Given the description of an element on the screen output the (x, y) to click on. 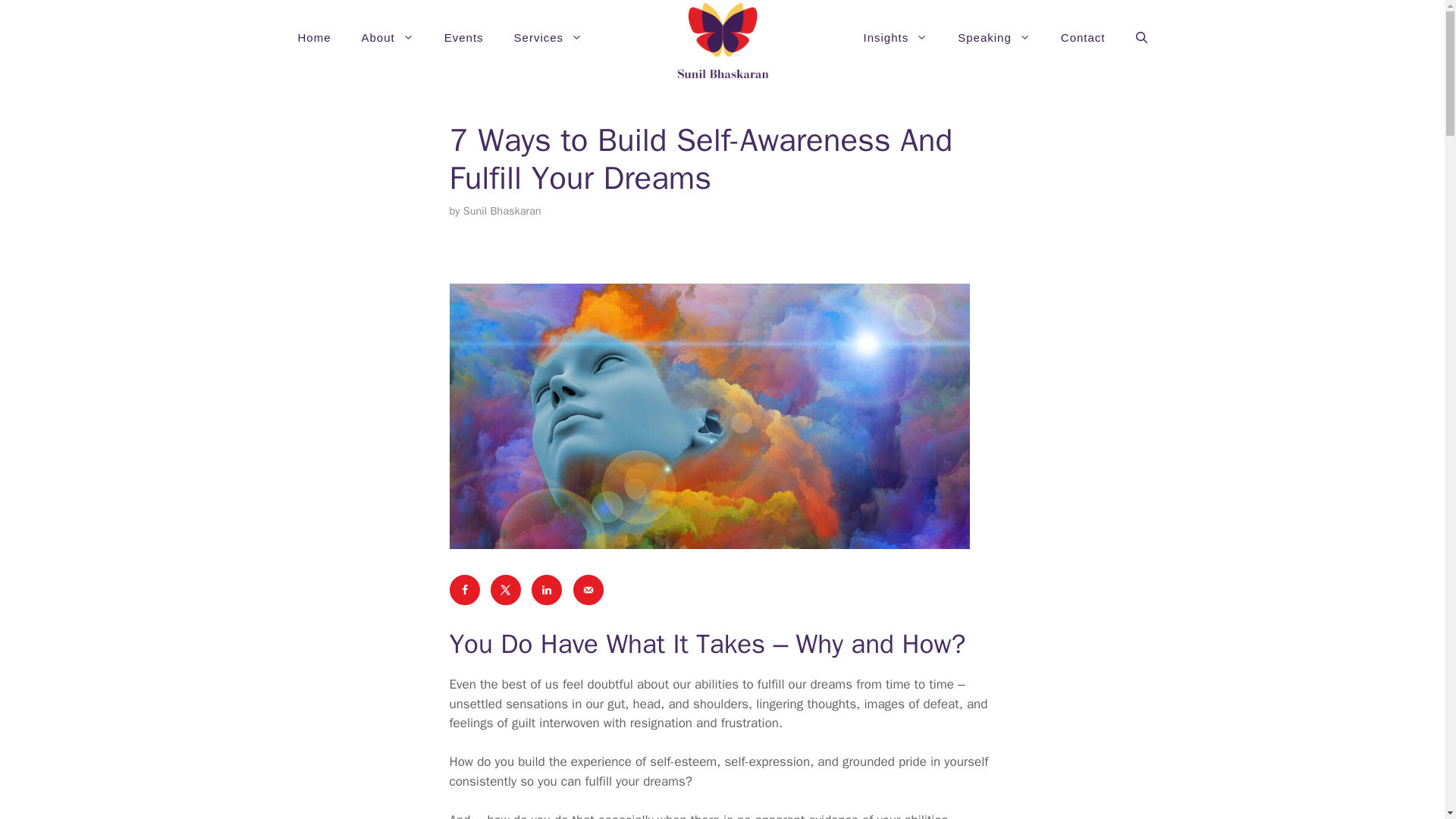
Services (548, 37)
Events (464, 37)
Share on LinkedIn (546, 589)
Sunil Bhaskaran (502, 210)
View all posts by Sunil Bhaskaran (502, 210)
Share on X (505, 589)
Speaking (993, 37)
Share on Facebook (463, 589)
Home (314, 37)
